Given the description of an element on the screen output the (x, y) to click on. 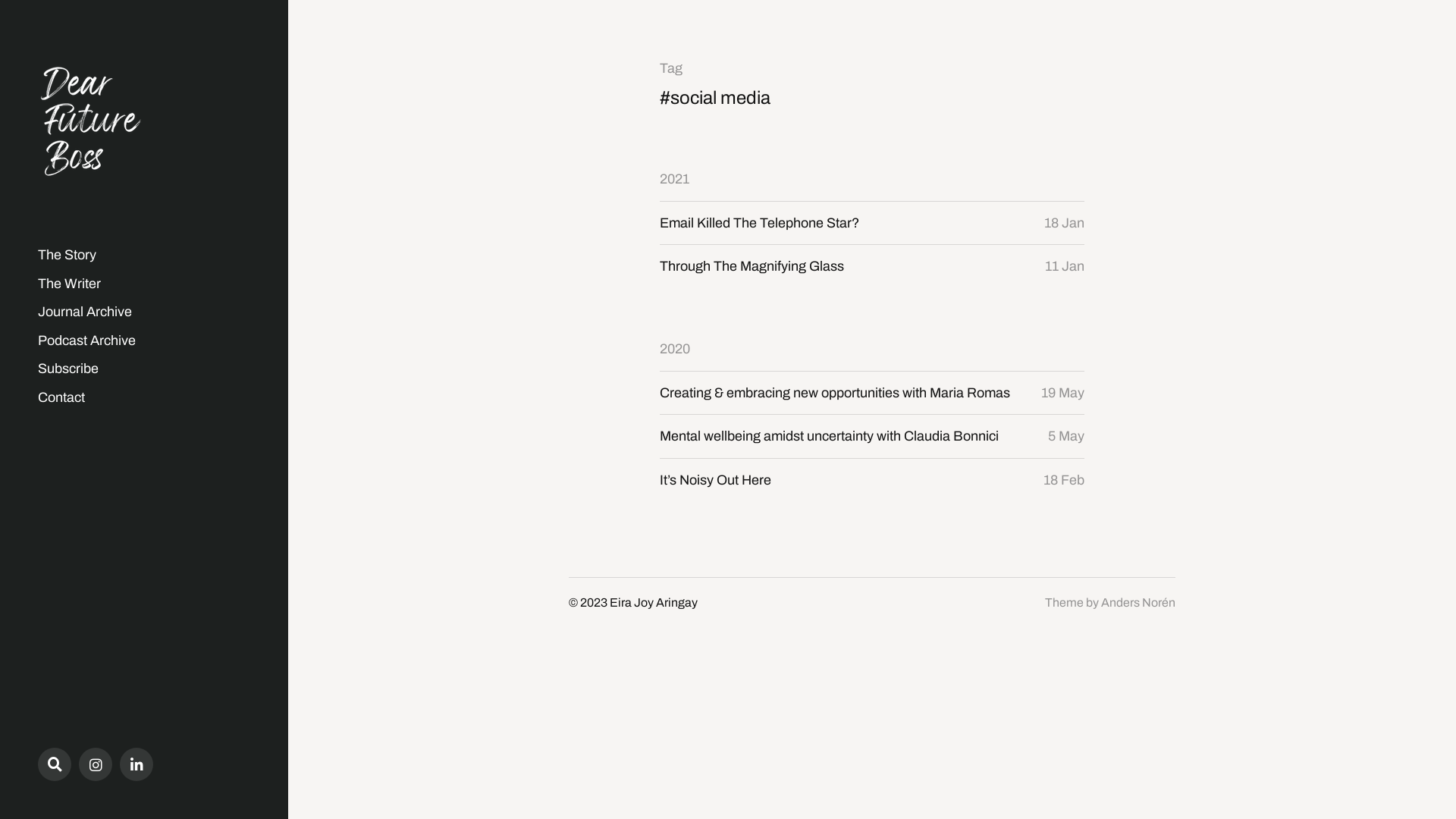
2020 Element type: text (674, 348)
Email Killed The Telephone Star?
18 Jan Element type: text (871, 222)
Through The Magnifying Glass
11 Jan Element type: text (871, 266)
Subscribe Element type: text (67, 368)
Podcast Archive Element type: text (86, 340)
The Story Element type: text (66, 255)
The Writer Element type: text (68, 283)
Contact Element type: text (60, 397)
2021 Element type: text (674, 178)
Journal Archive Element type: text (84, 312)
